Given the description of an element on the screen output the (x, y) to click on. 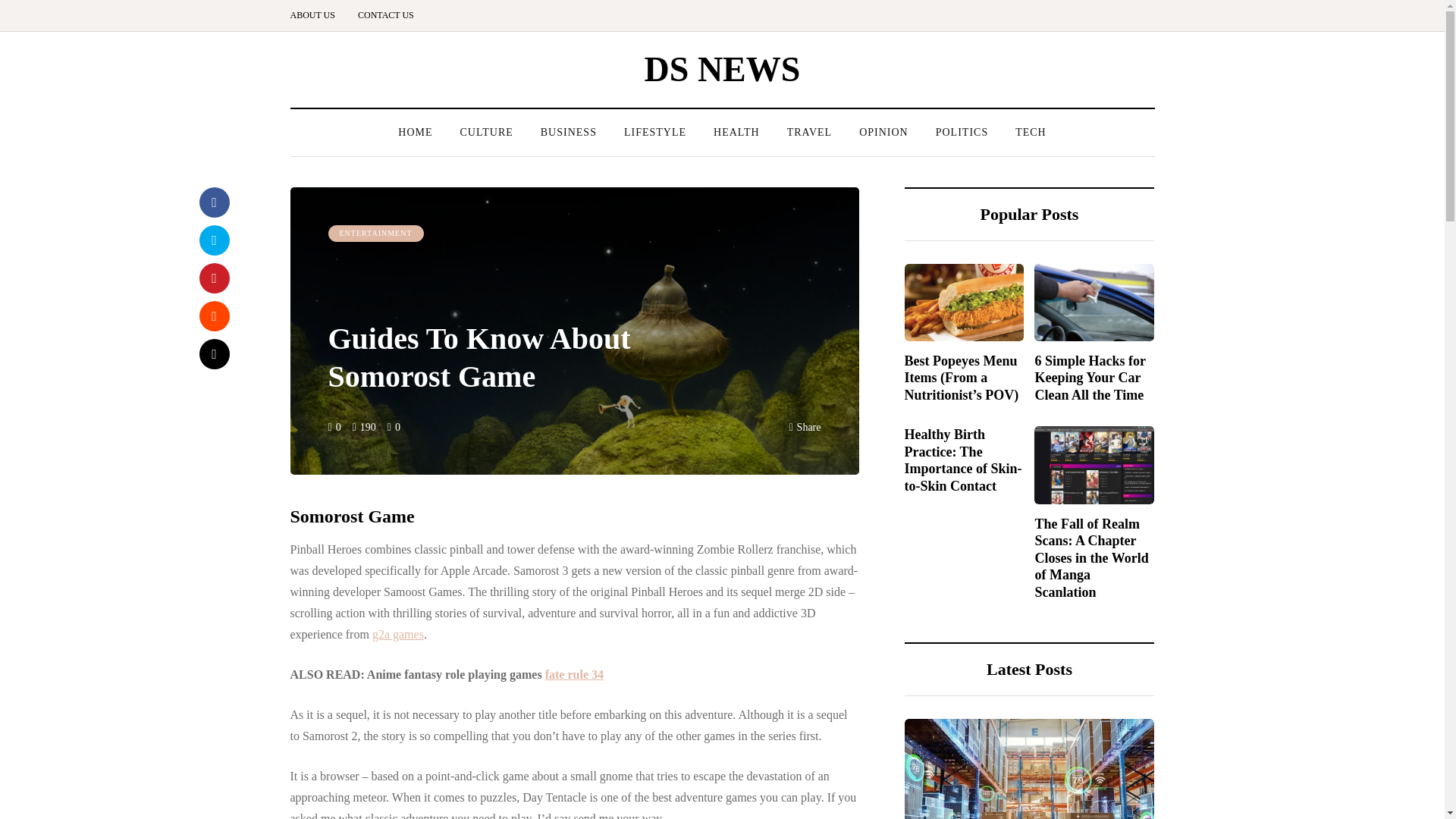
fate rule 34 (574, 674)
Tweet this (213, 240)
CONTACT US (385, 15)
Share by Email (213, 354)
Share on Reddit (213, 316)
TECH (1030, 132)
CULTURE (485, 132)
HEALTH (736, 132)
TRAVEL (809, 132)
DS NEWS (722, 68)
BUSINESS (568, 132)
OPINION (883, 132)
Pin this (213, 277)
Share with Facebook (213, 202)
POLITICS (961, 132)
